Given the description of an element on the screen output the (x, y) to click on. 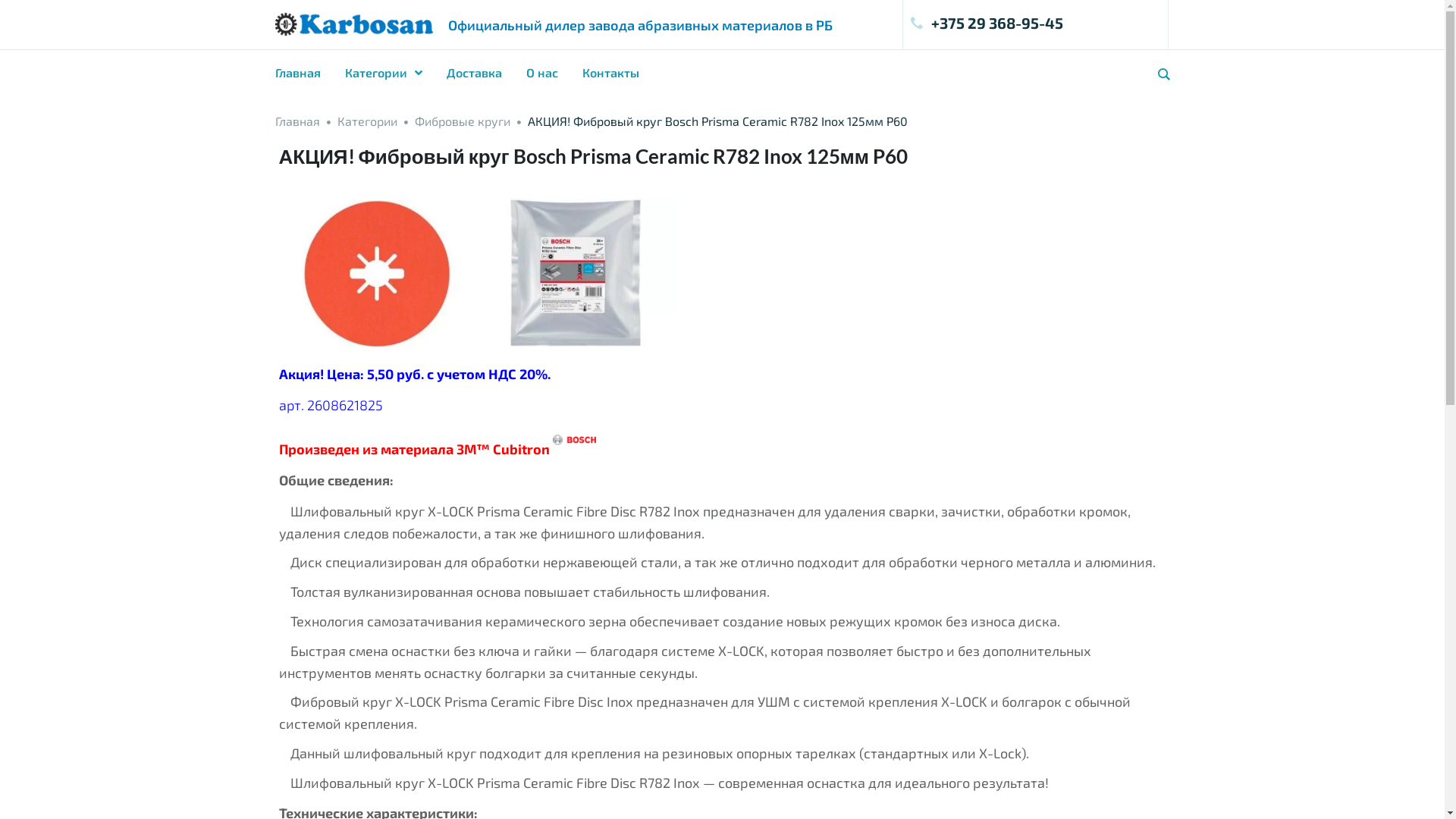
+375 29 368-95-45 Element type: text (1035, 22)
